Given the description of an element on the screen output the (x, y) to click on. 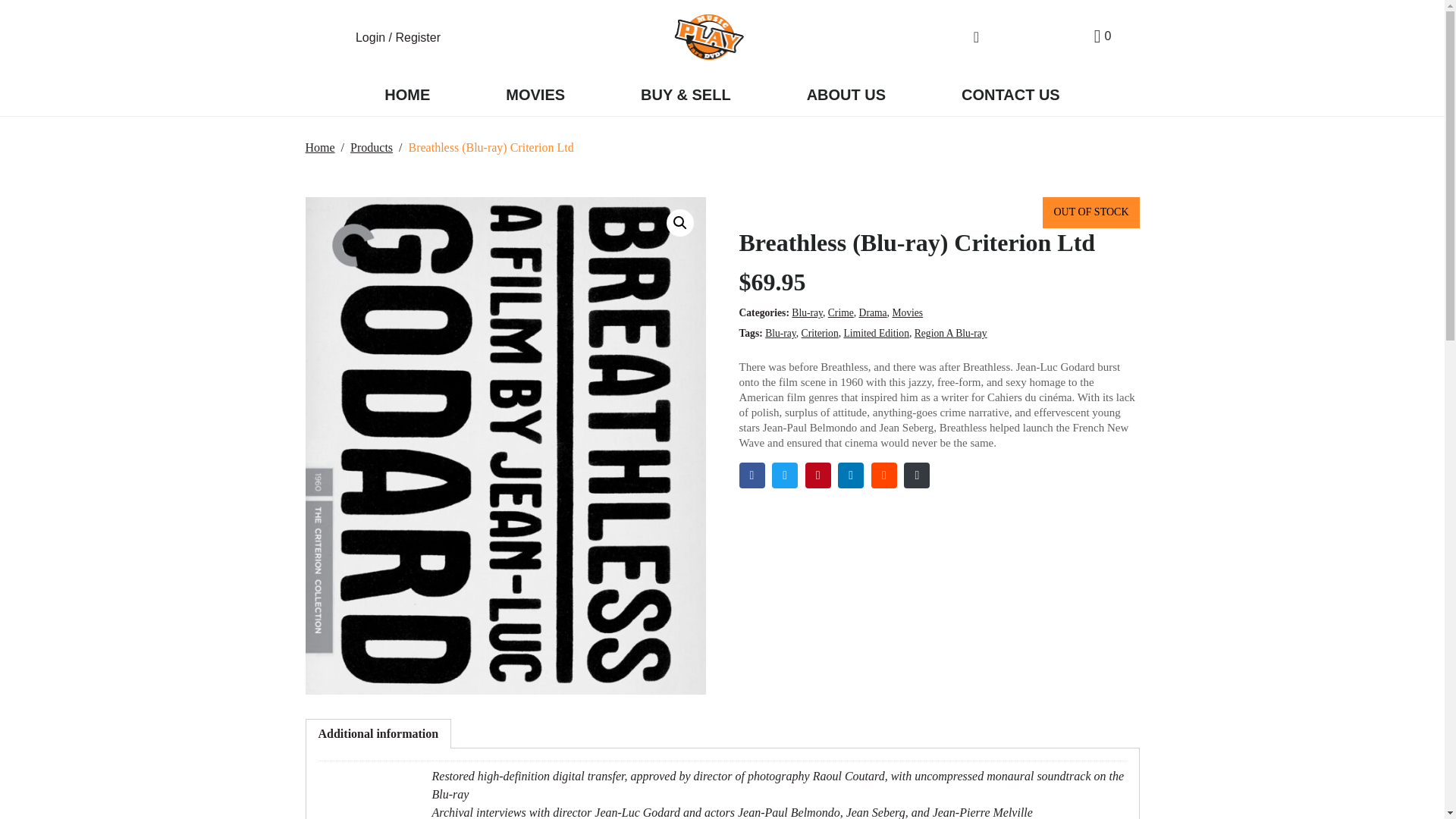
HOME (406, 95)
Blu-ray (780, 333)
Home (319, 146)
Limited Edition (875, 333)
Crime (840, 312)
Movies (907, 312)
Additional information (378, 733)
Products (371, 146)
Drama (872, 312)
Blu-ray (807, 312)
